Given the description of an element on the screen output the (x, y) to click on. 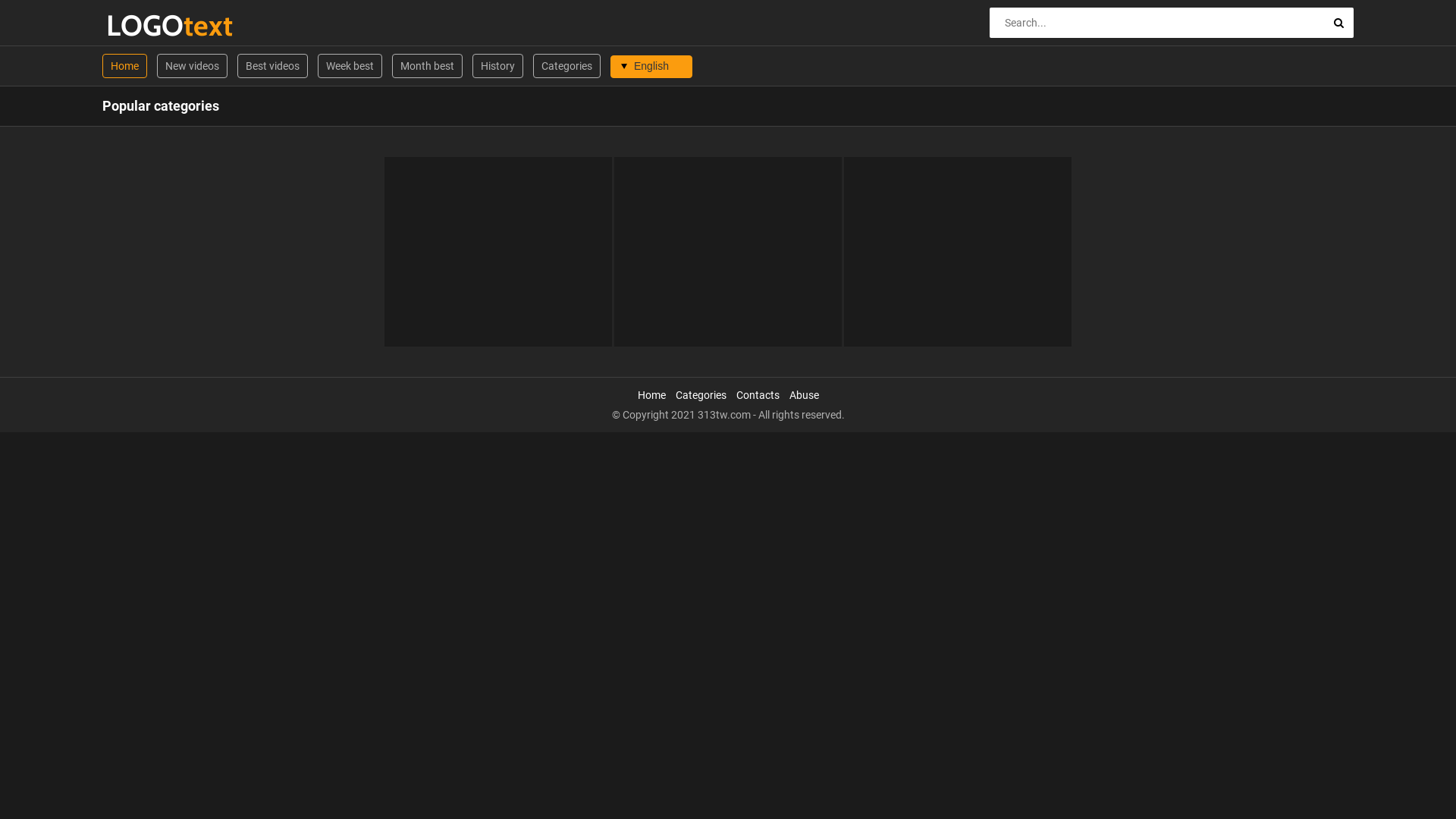
Contacts Element type: text (756, 395)
LOGOtext Element type: text (143, 25)
Month best Element type: text (427, 65)
Week best Element type: text (349, 65)
Home Element type: text (651, 395)
Categories Element type: text (566, 65)
Categories Element type: text (699, 395)
Home Element type: text (124, 65)
Abuse Element type: text (803, 395)
History Element type: text (497, 65)
New videos Element type: text (191, 65)
Best videos Element type: text (272, 65)
